Given the description of an element on the screen output the (x, y) to click on. 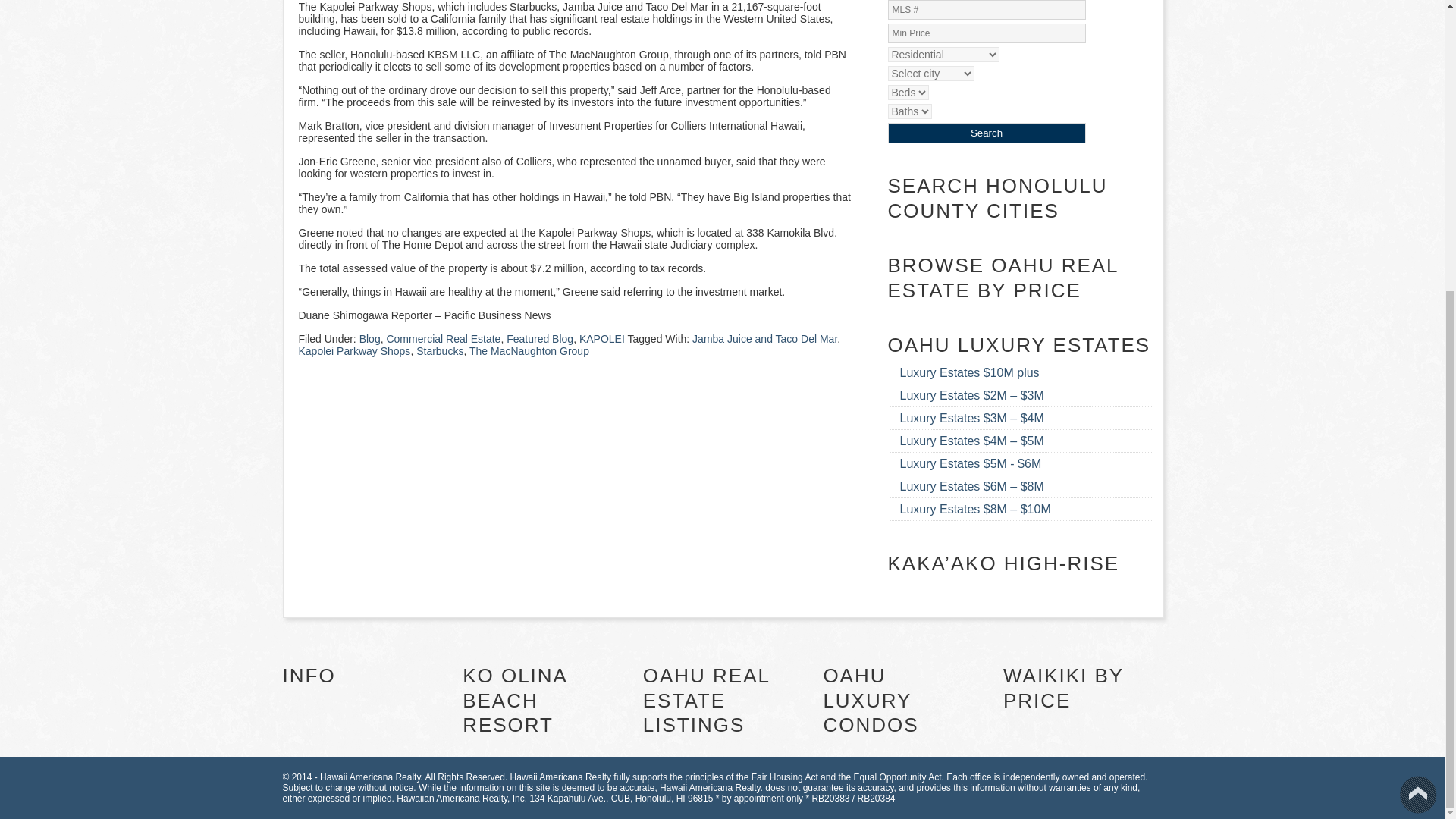
Jamba Juice and Taco Del Mar (765, 338)
Commercial Real Estate (442, 338)
Starbucks (439, 350)
KAPOLEI (601, 338)
Kapolei Parkway Shops (354, 350)
The MacNaughton Group (528, 350)
Search (985, 132)
Blog (369, 338)
Search (985, 132)
Featured Blog (539, 338)
